Given the description of an element on the screen output the (x, y) to click on. 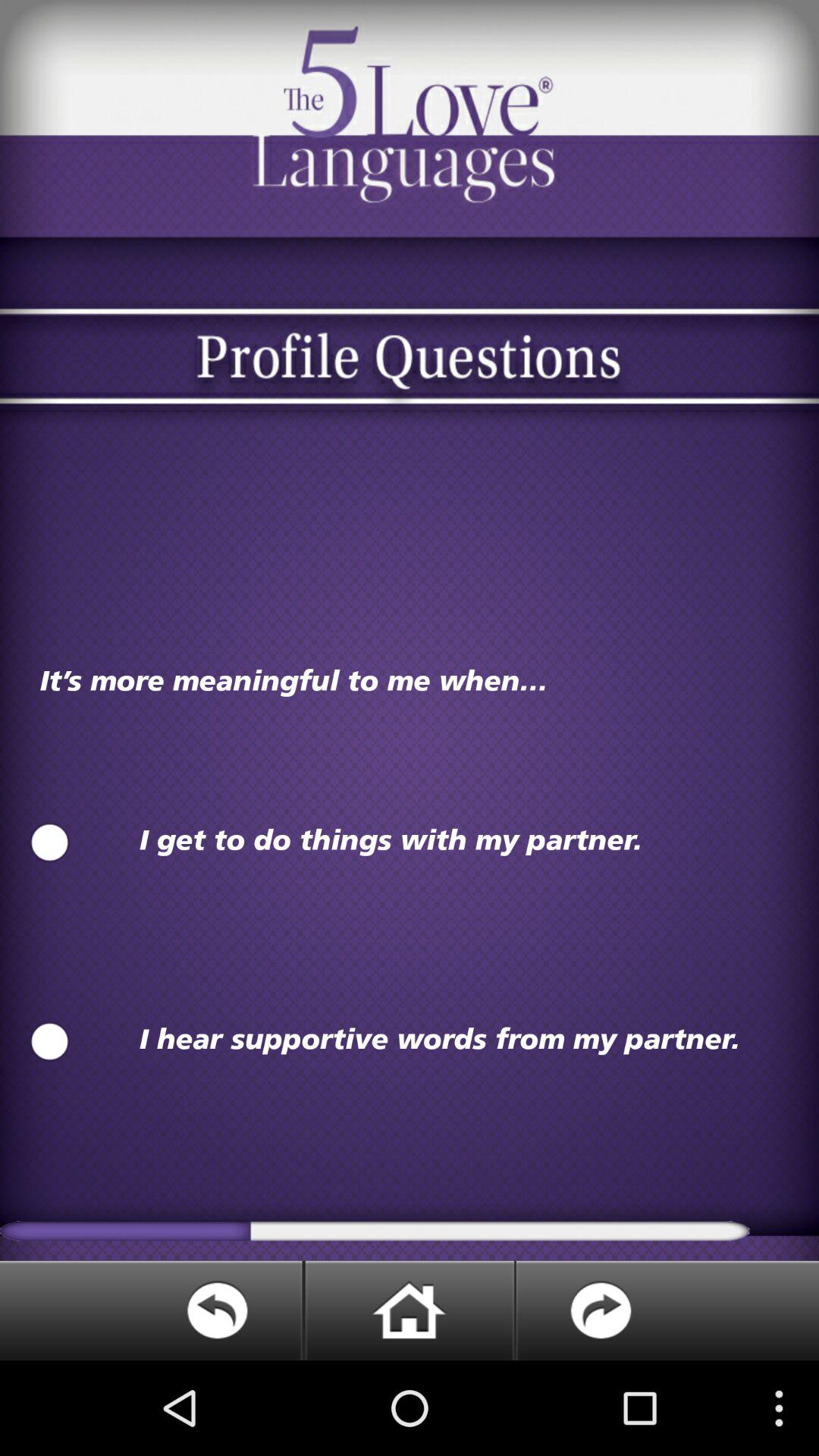
go to advertisement (409, 1310)
